Given the description of an element on the screen output the (x, y) to click on. 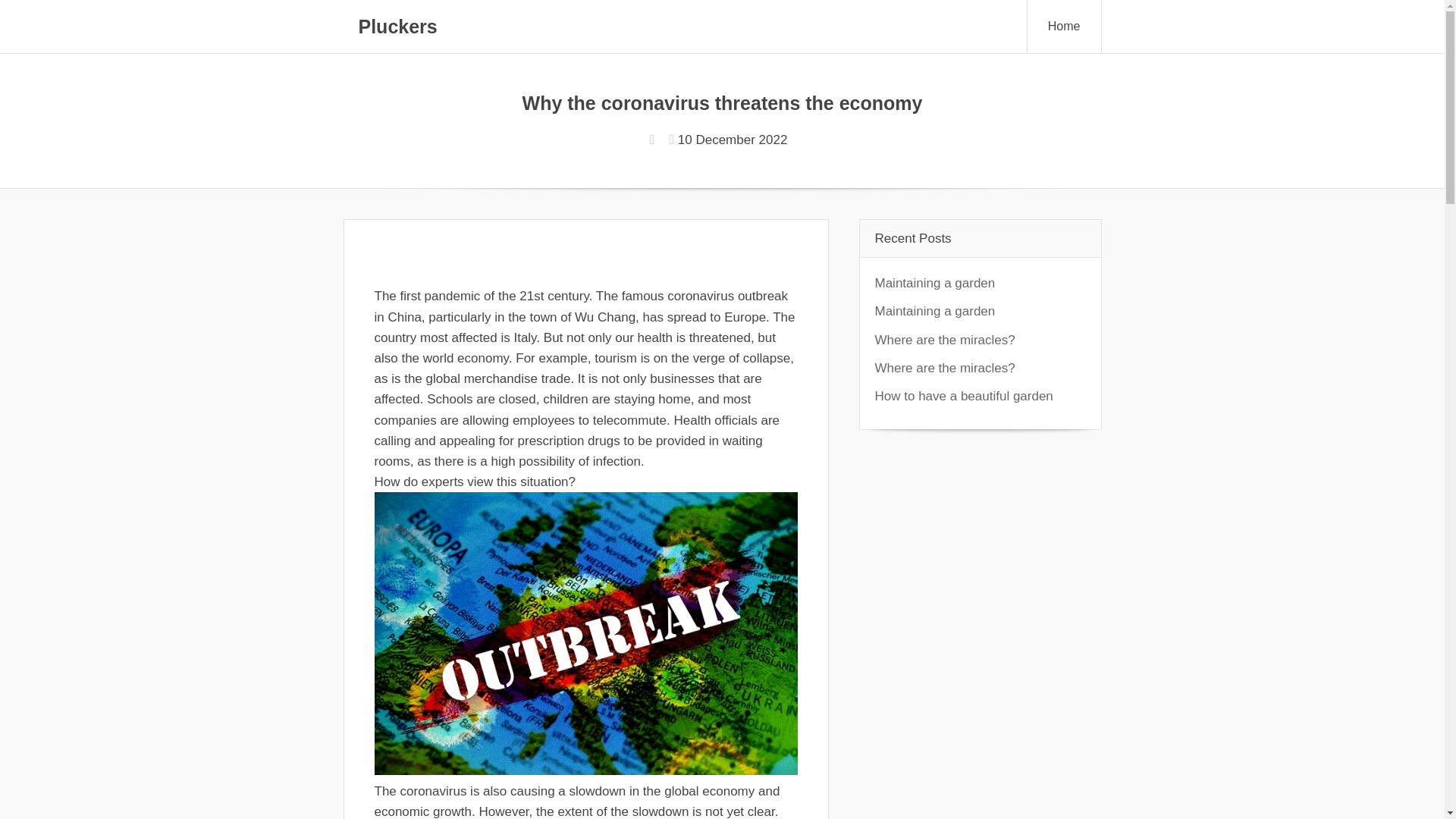
Where are the miracles? (944, 339)
Home (1064, 26)
Where are the miracles? (944, 368)
Maintaining a garden (935, 283)
How to have a beautiful garden (963, 396)
Maintaining a garden (935, 310)
Pluckers (397, 25)
